Given the description of an element on the screen output the (x, y) to click on. 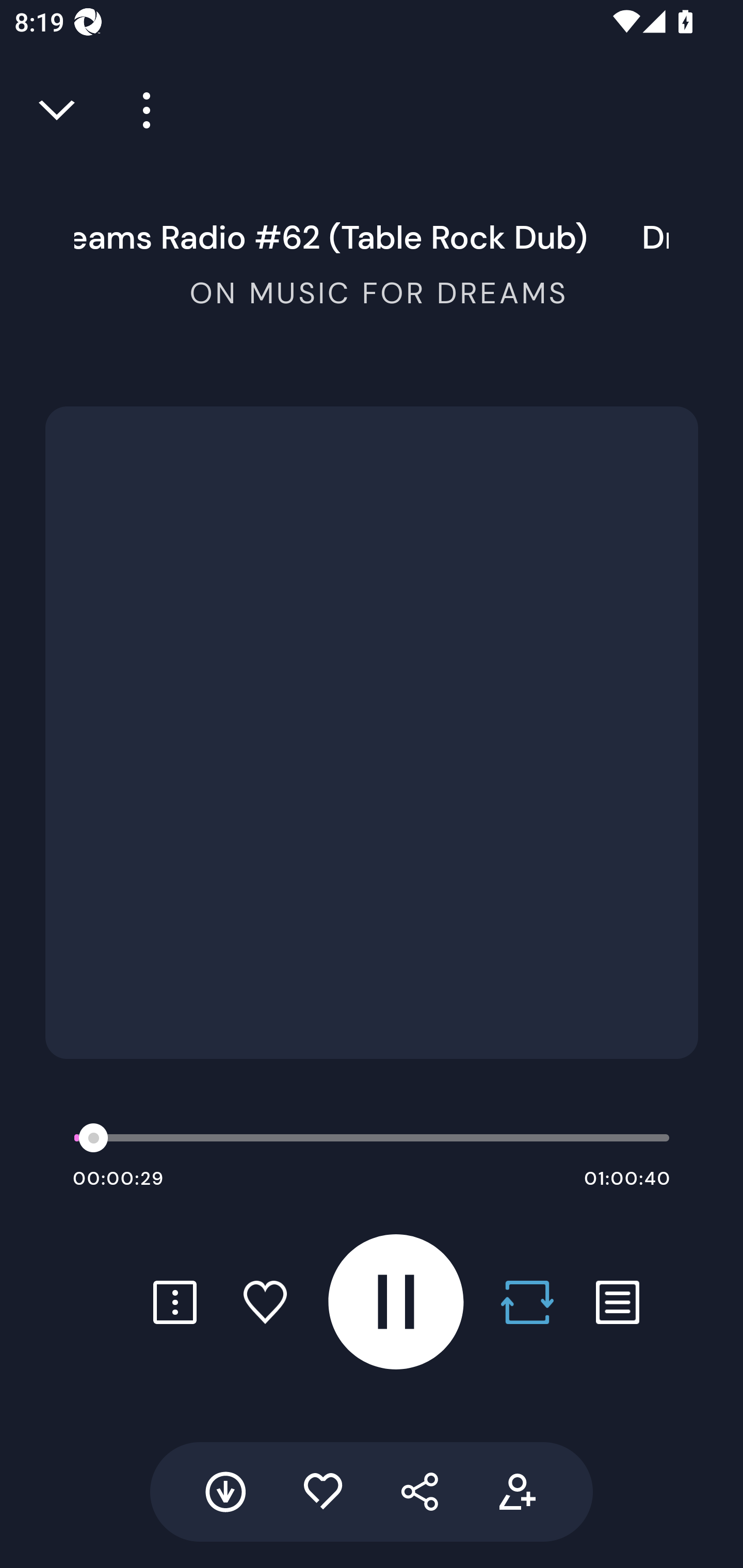
Close full player (58, 110)
Player more options button (139, 110)
Repost button (527, 1301)
